Given the description of an element on the screen output the (x, y) to click on. 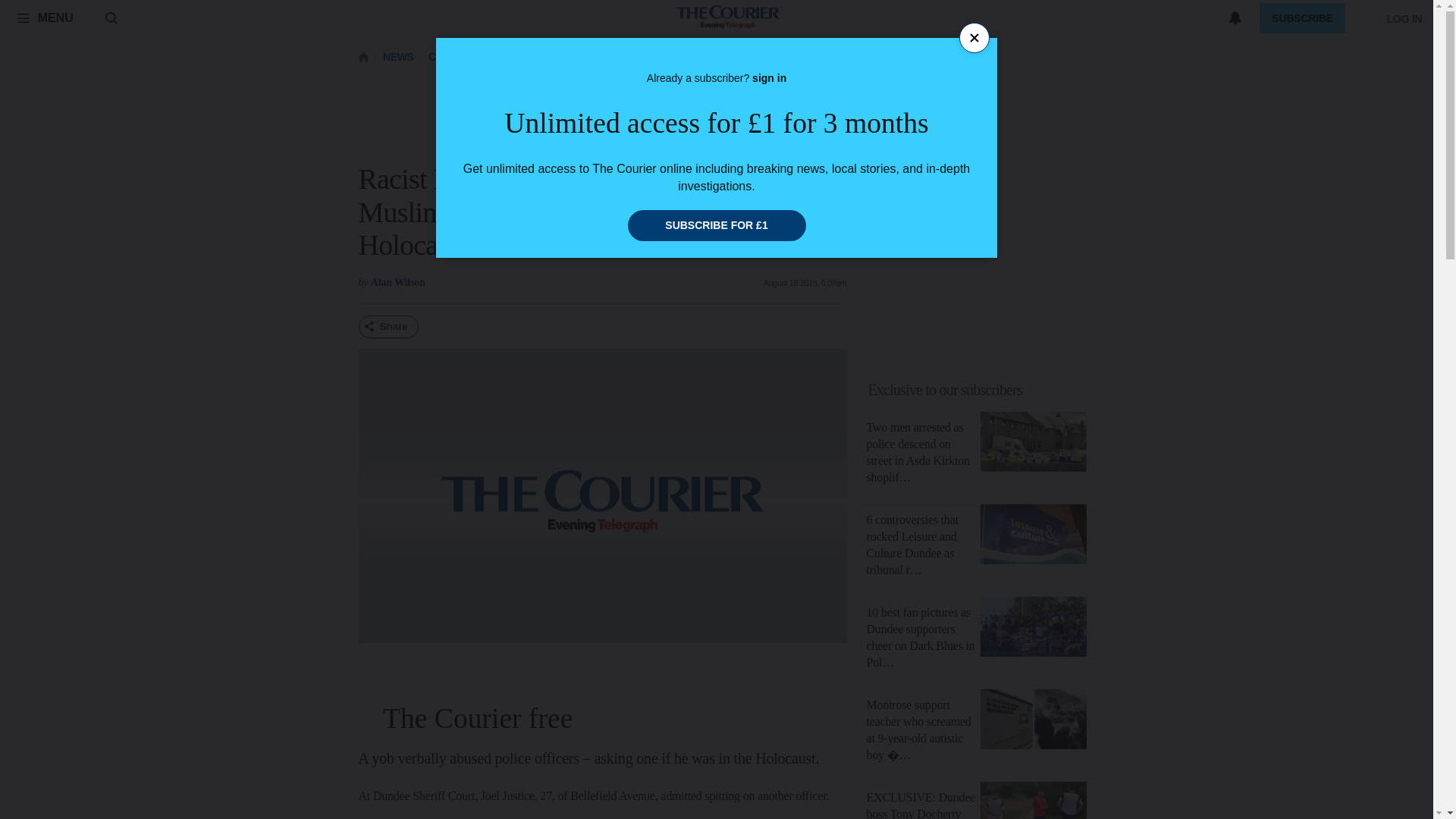
MENU (44, 17)
The Courier (727, 17)
Exclusive to our subscribers (944, 389)
Exclusive to our subscribers (981, 389)
